Given the description of an element on the screen output the (x, y) to click on. 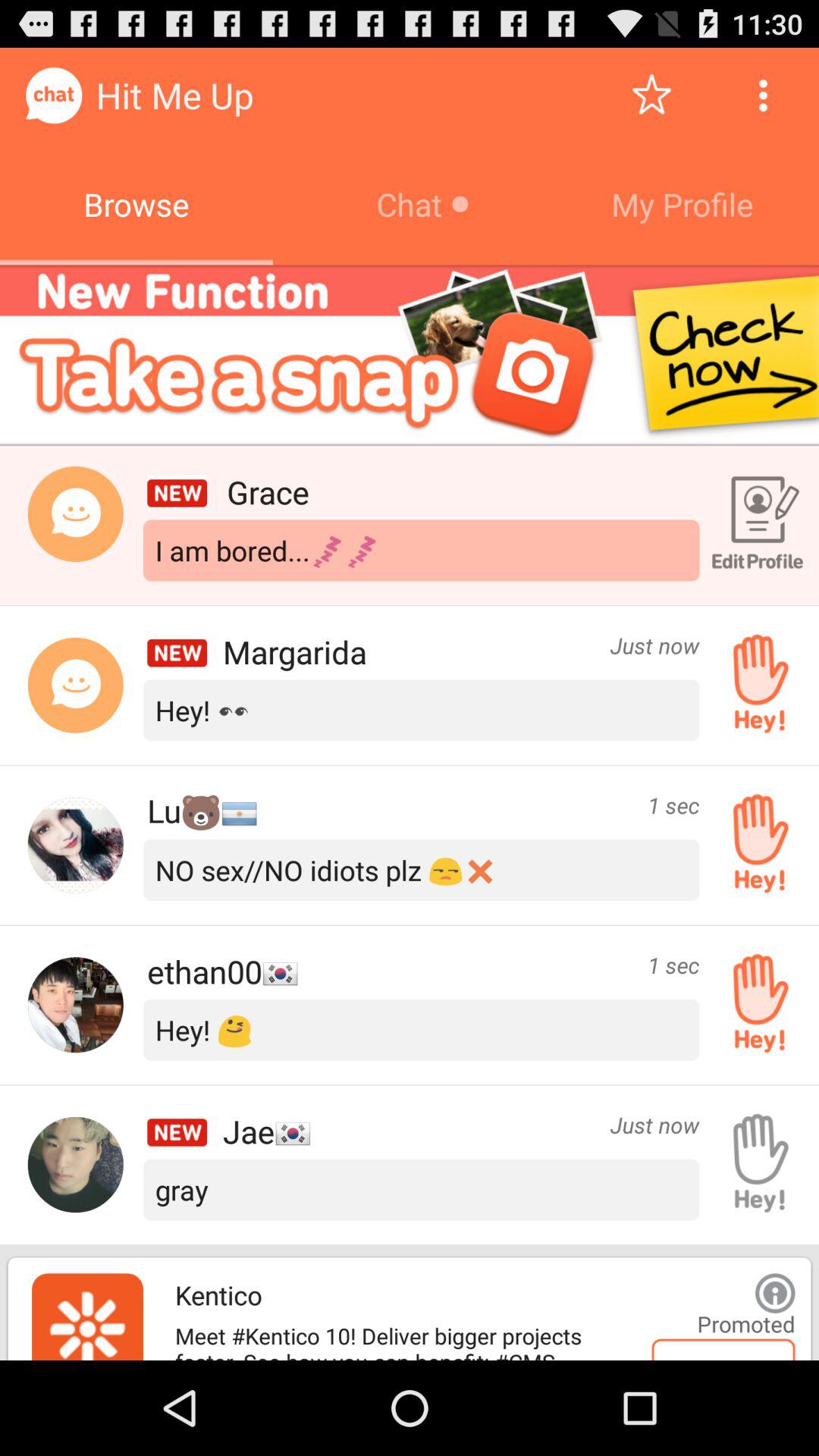
open advertisement (409, 355)
